Given the description of an element on the screen output the (x, y) to click on. 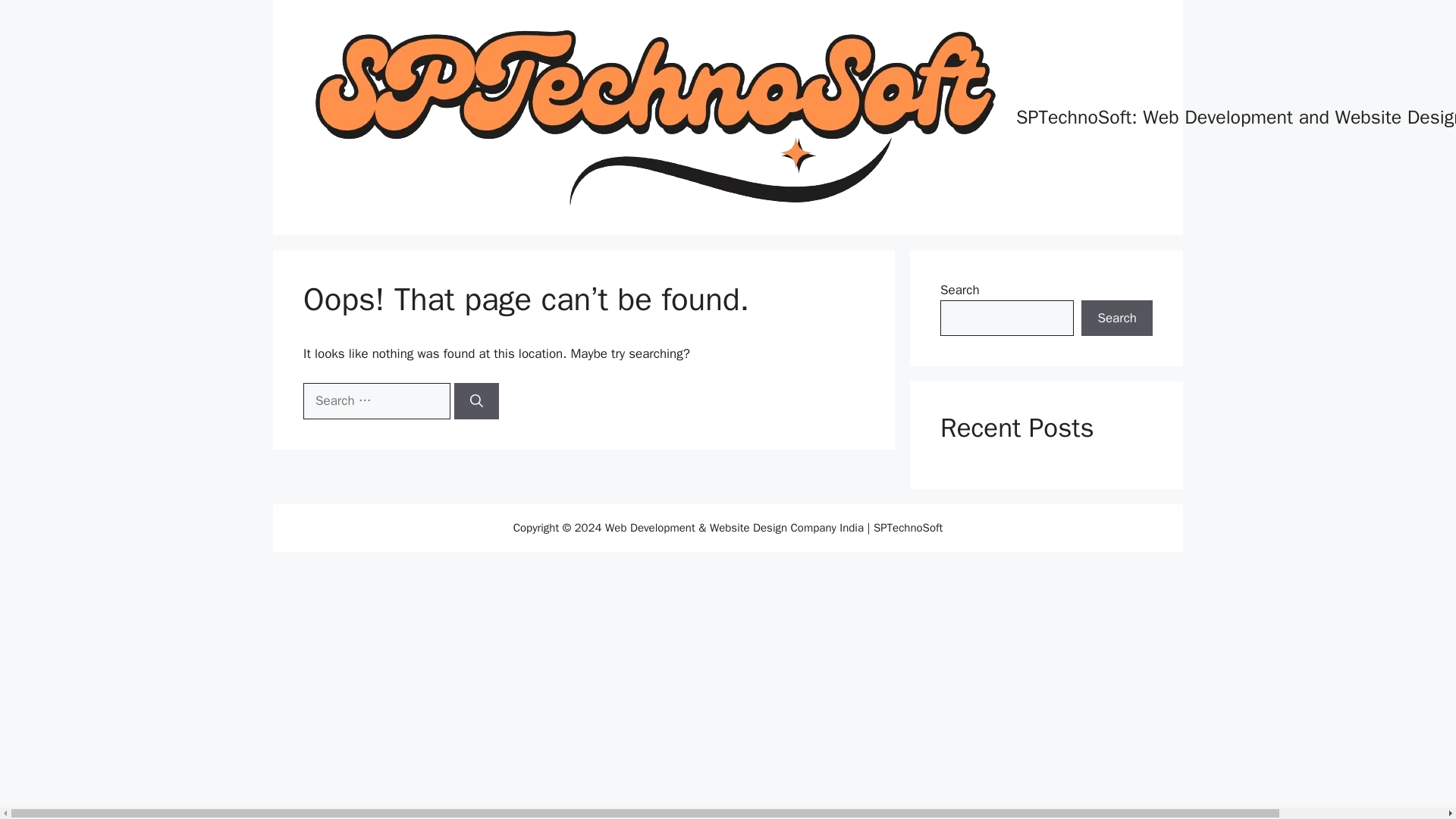
Search (1117, 318)
Search for: (375, 401)
SPTechnoSoft: Web Development and Website Design Company (1236, 116)
